Given the description of an element on the screen output the (x, y) to click on. 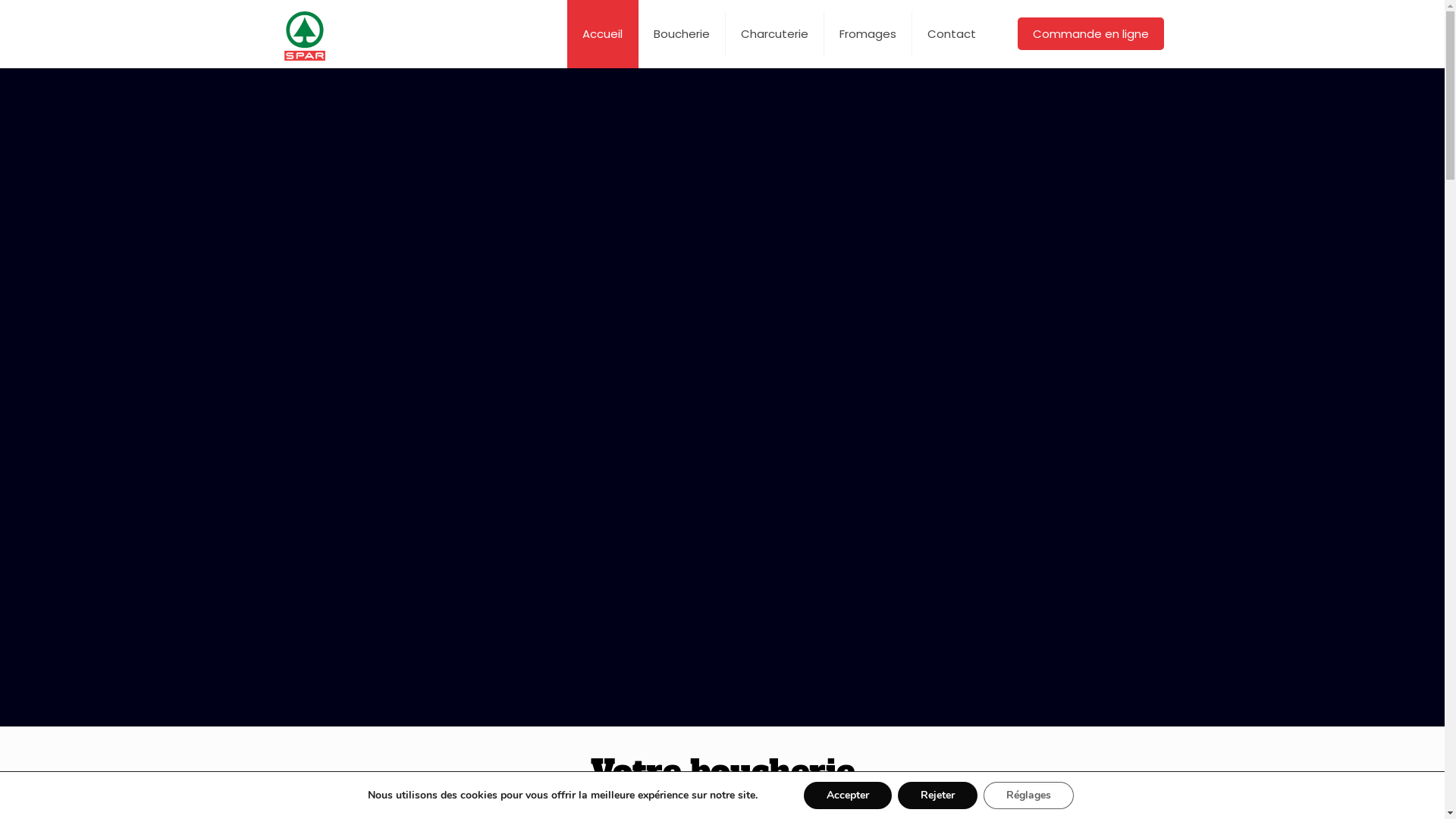
Accueil Element type: text (602, 34)
SPAR Ecaussinnes Element type: hover (305, 34)
Accepter Element type: text (847, 795)
Boucherie Element type: text (681, 34)
Rejeter Element type: text (937, 795)
Commande en ligne Element type: text (1090, 33)
Contact Element type: text (951, 34)
Fromages Element type: text (868, 34)
Charcuterie Element type: text (774, 34)
